Given the description of an element on the screen output the (x, y) to click on. 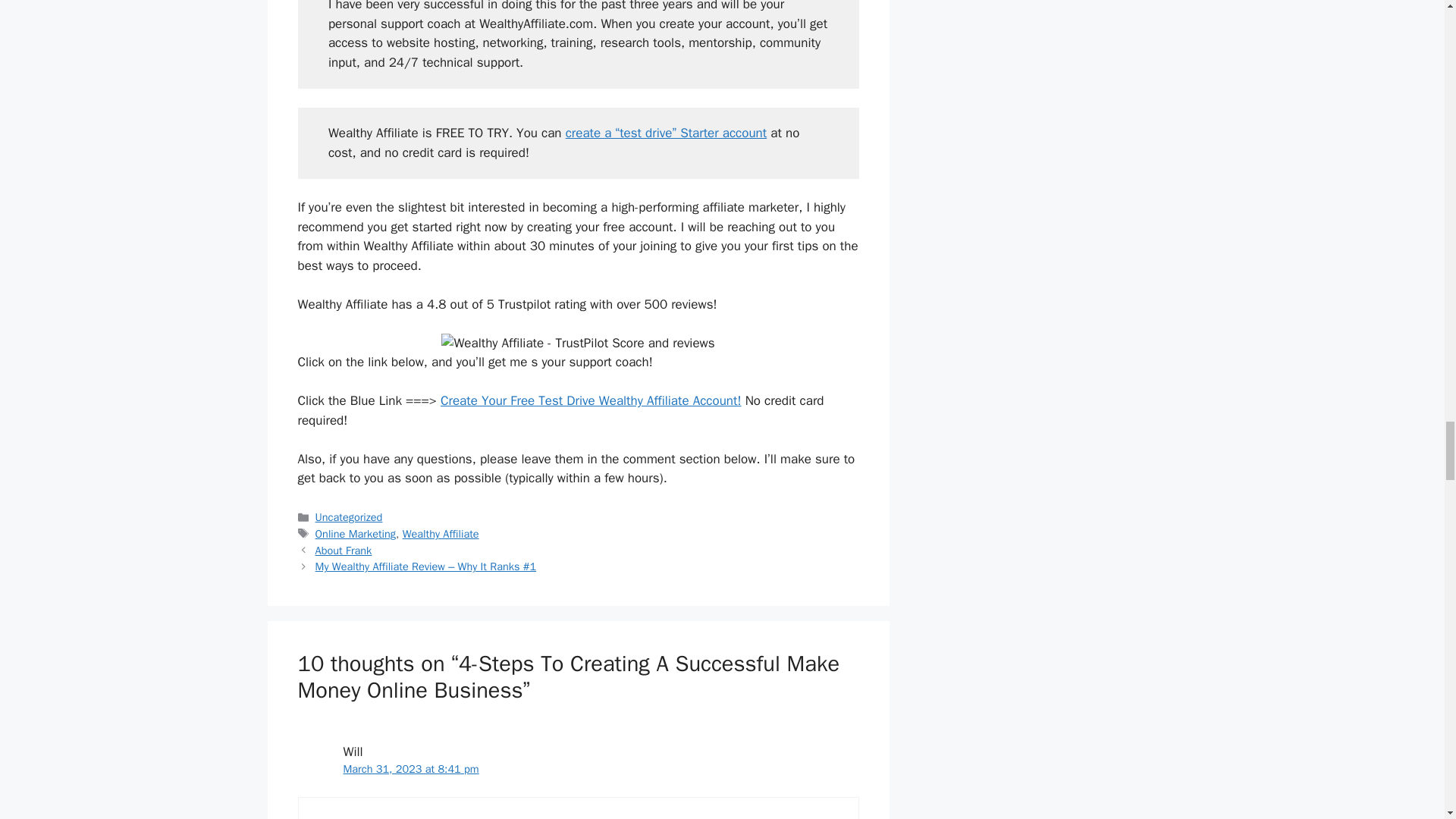
Create Your Free Test Drive Wealthy Affiliate Account! (591, 400)
About Frank (343, 550)
March 31, 2023 at 8:41 pm (410, 768)
Online Marketing (355, 533)
Uncategorized (348, 517)
Wealthy Affiliate (441, 533)
